Given the description of an element on the screen output the (x, y) to click on. 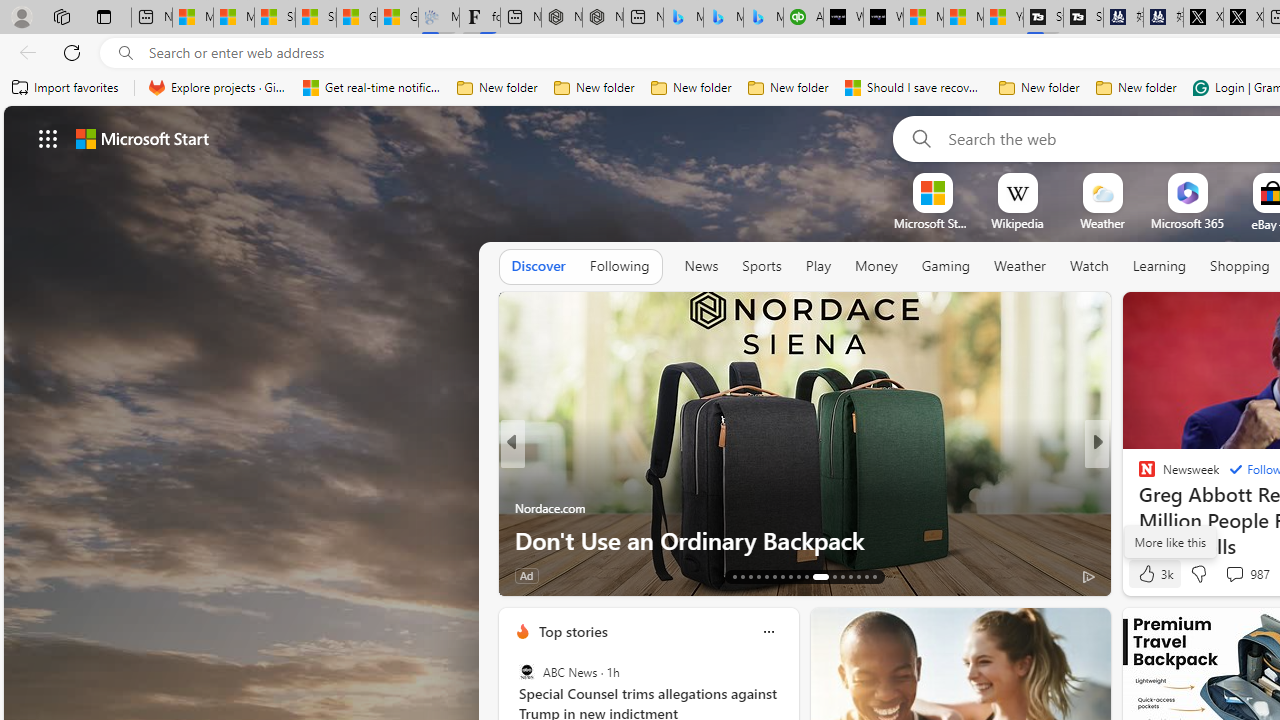
AutomationID: tab-25 (842, 576)
Shanghai, China weather forecast | Microsoft Weather (315, 17)
POLITICO (1138, 475)
View comments 17 Comment (1244, 574)
View comments 174 Comment (11, 575)
View comments 1 Comment (618, 574)
AutomationID: tab-18 (774, 576)
This story is trending (449, 579)
3k Like (1154, 574)
Accounting Software for Accountants, CPAs and Bookkeepers (803, 17)
News (701, 267)
AutomationID: tab-16 (757, 576)
View comments 22 Comment (11, 575)
AutomationID: tab-27 (857, 576)
